Given the description of an element on the screen output the (x, y) to click on. 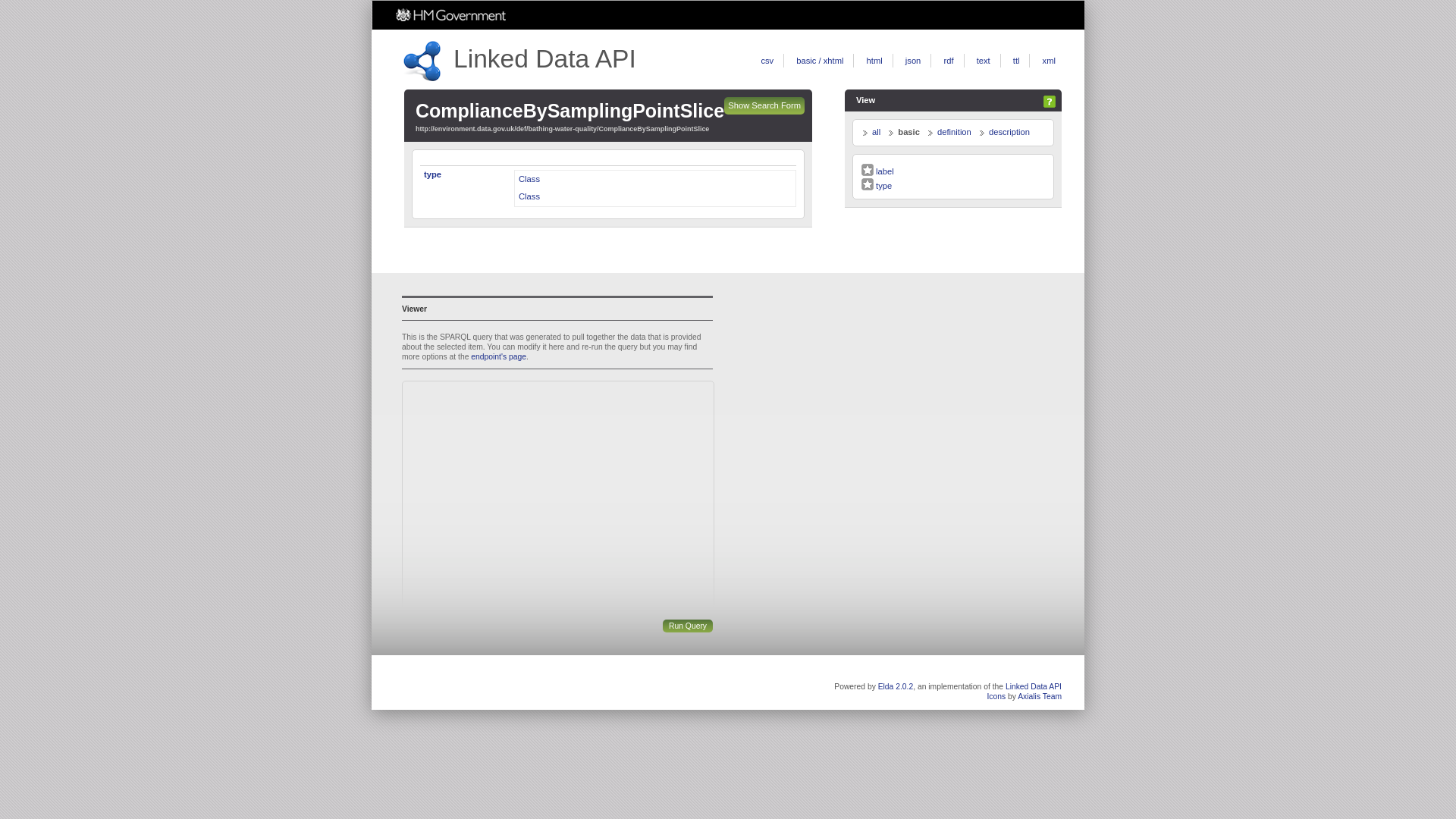
view in text format (983, 60)
html (874, 60)
label (877, 171)
Icons (996, 696)
endpoint's page (497, 356)
switch to definition view (954, 131)
Axialis Team (1039, 696)
definition (954, 131)
Class (529, 178)
rdf (948, 60)
description (1008, 131)
view in json format (913, 60)
xml (1048, 60)
view in rdf format (948, 60)
view in csv format (766, 60)
